Given the description of an element on the screen output the (x, y) to click on. 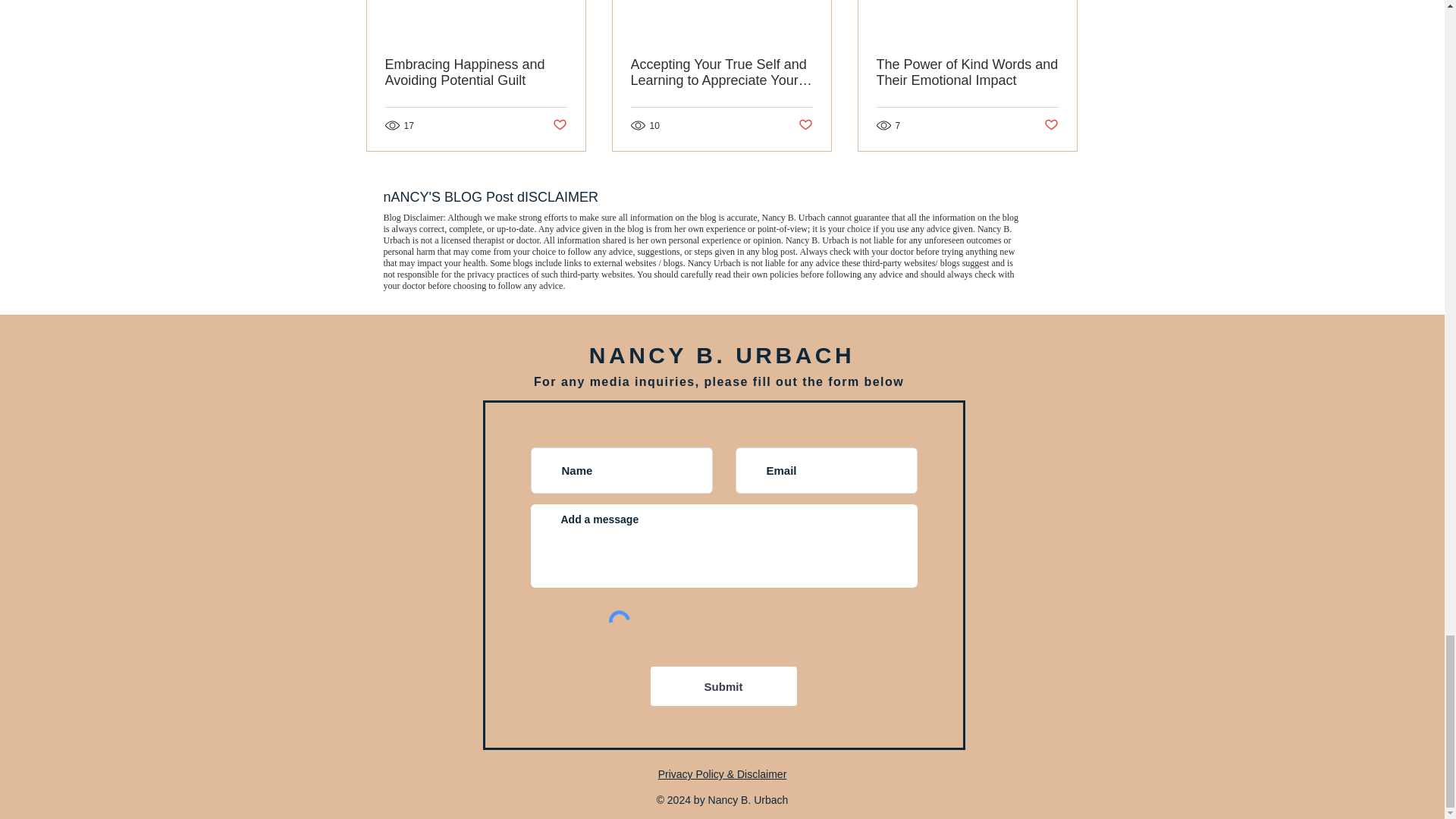
Embracing Happiness and Avoiding Potential Guilt (476, 72)
NANCY B. URBACH (721, 355)
The Power of Kind Words and Their Emotional Impact (967, 72)
Submit (723, 685)
Post not marked as liked (804, 125)
Post not marked as liked (558, 125)
Post not marked as liked (1050, 125)
